Given the description of an element on the screen output the (x, y) to click on. 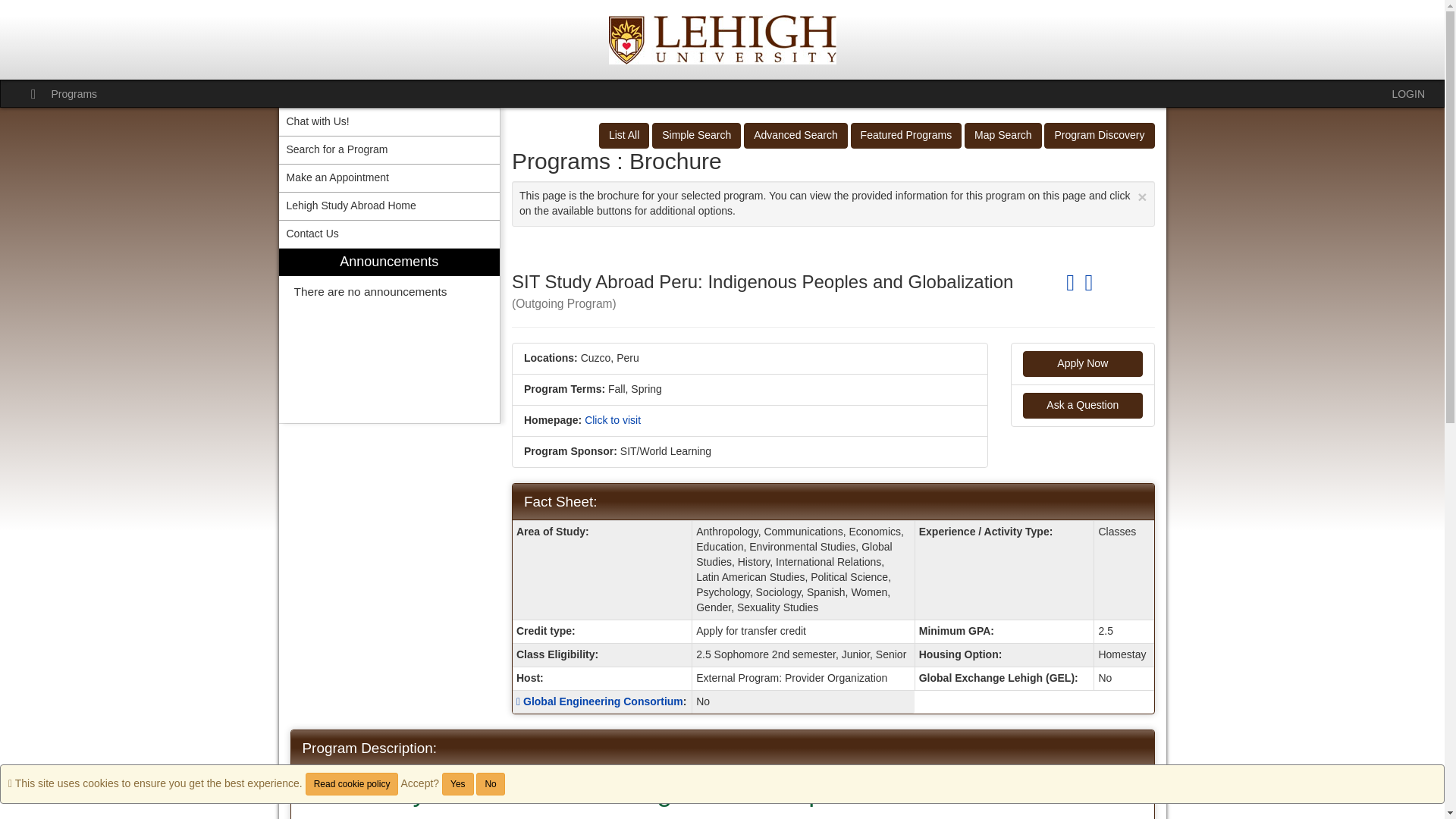
List All (623, 135)
Map Search (1002, 135)
Lehigh Study Abroad Office - Lehigh University (721, 39)
Lehigh Study Abroad Home (389, 206)
Click to visit the homepage (612, 419)
Simple Search (696, 135)
Contact Us (389, 234)
List All (623, 135)
Map Search (1002, 135)
LOGIN (1408, 93)
